Given the description of an element on the screen output the (x, y) to click on. 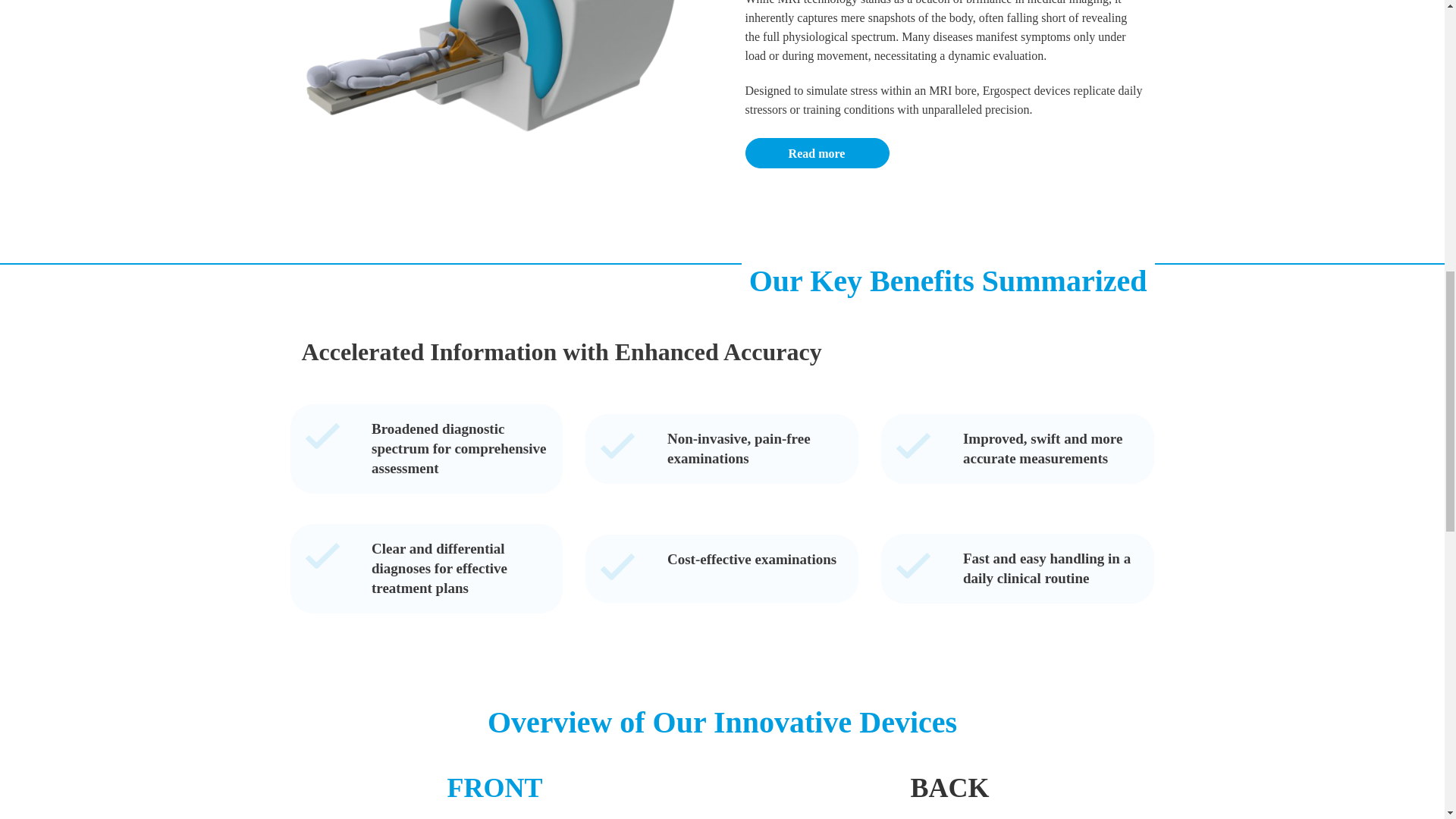
Products (816, 153)
ergospect-top (498, 80)
